Given the description of an element on the screen output the (x, y) to click on. 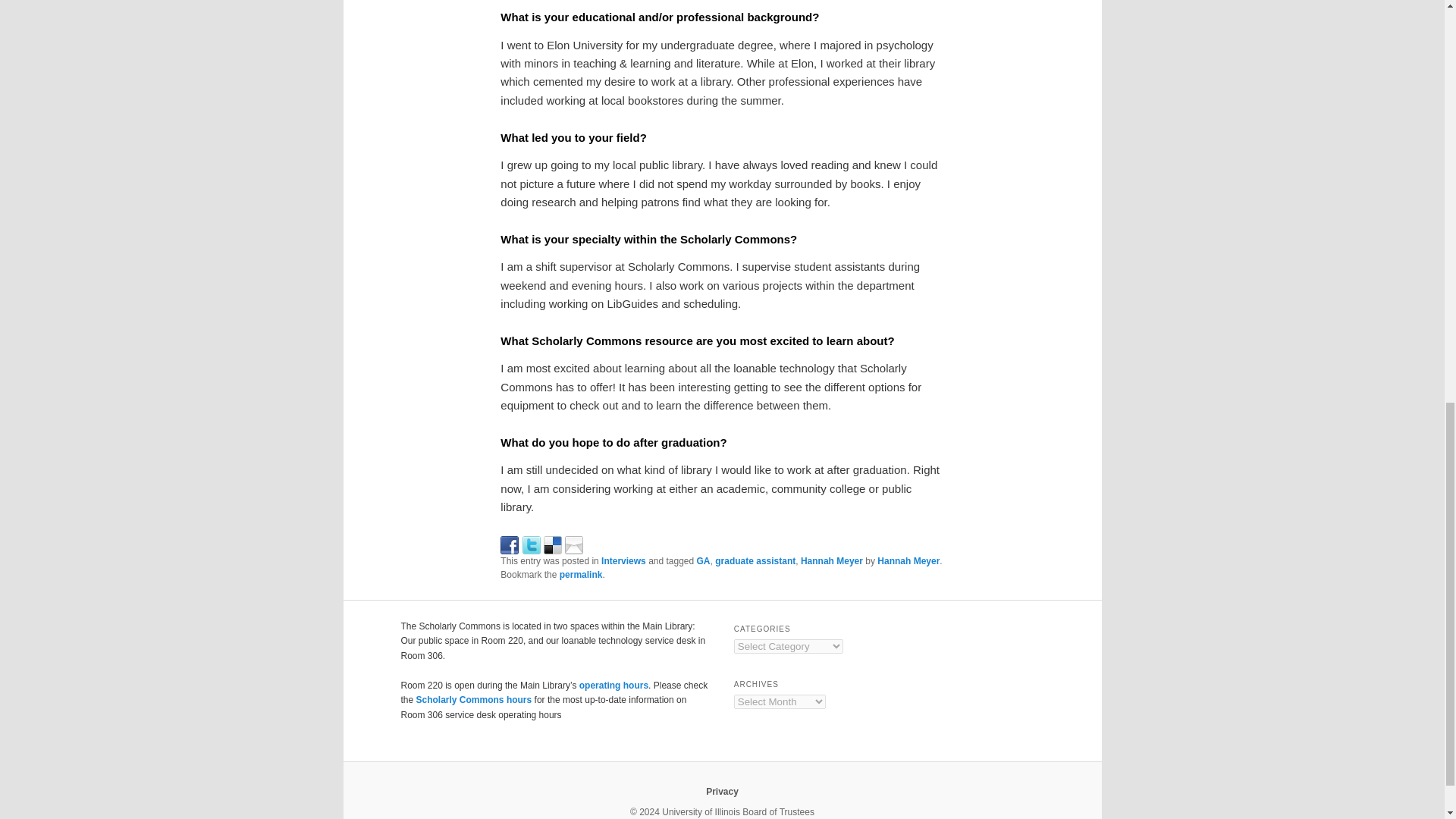
Facebook (509, 543)
Hannah Meyer (908, 561)
Interviews (623, 561)
permalink (580, 574)
GA (703, 561)
Permalink to Meet Our Graduate Assistants: Hannah Meyer (580, 574)
Privacy (722, 791)
Twitter (531, 543)
Email (573, 543)
operating hours (613, 685)
